Given the description of an element on the screen output the (x, y) to click on. 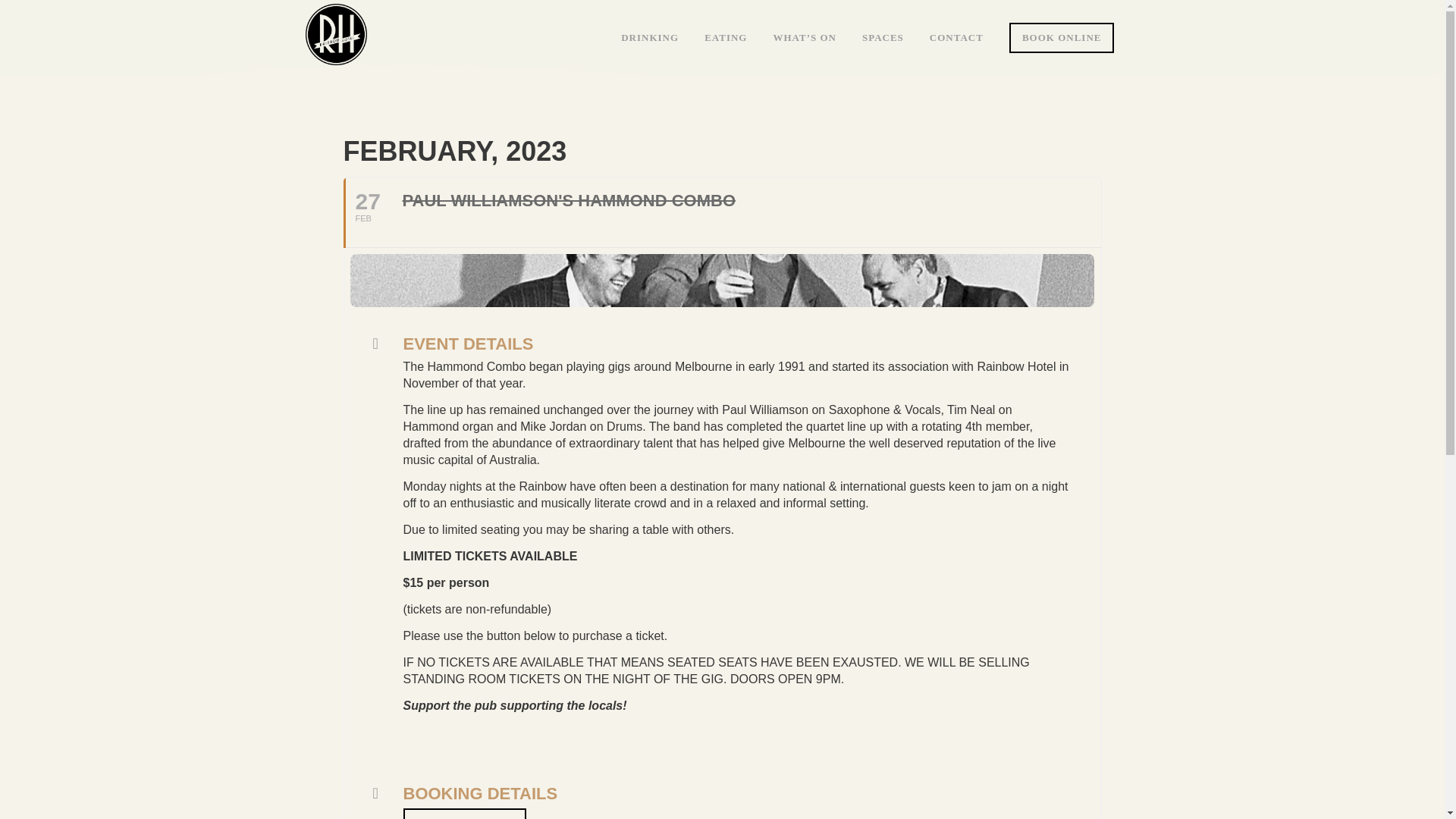
BOOK TICKETS (465, 813)
BOOK ONLINE (722, 212)
SPACES (1060, 38)
EATING (882, 38)
CONTACT (725, 38)
DRINKING (956, 38)
